Given the description of an element on the screen output the (x, y) to click on. 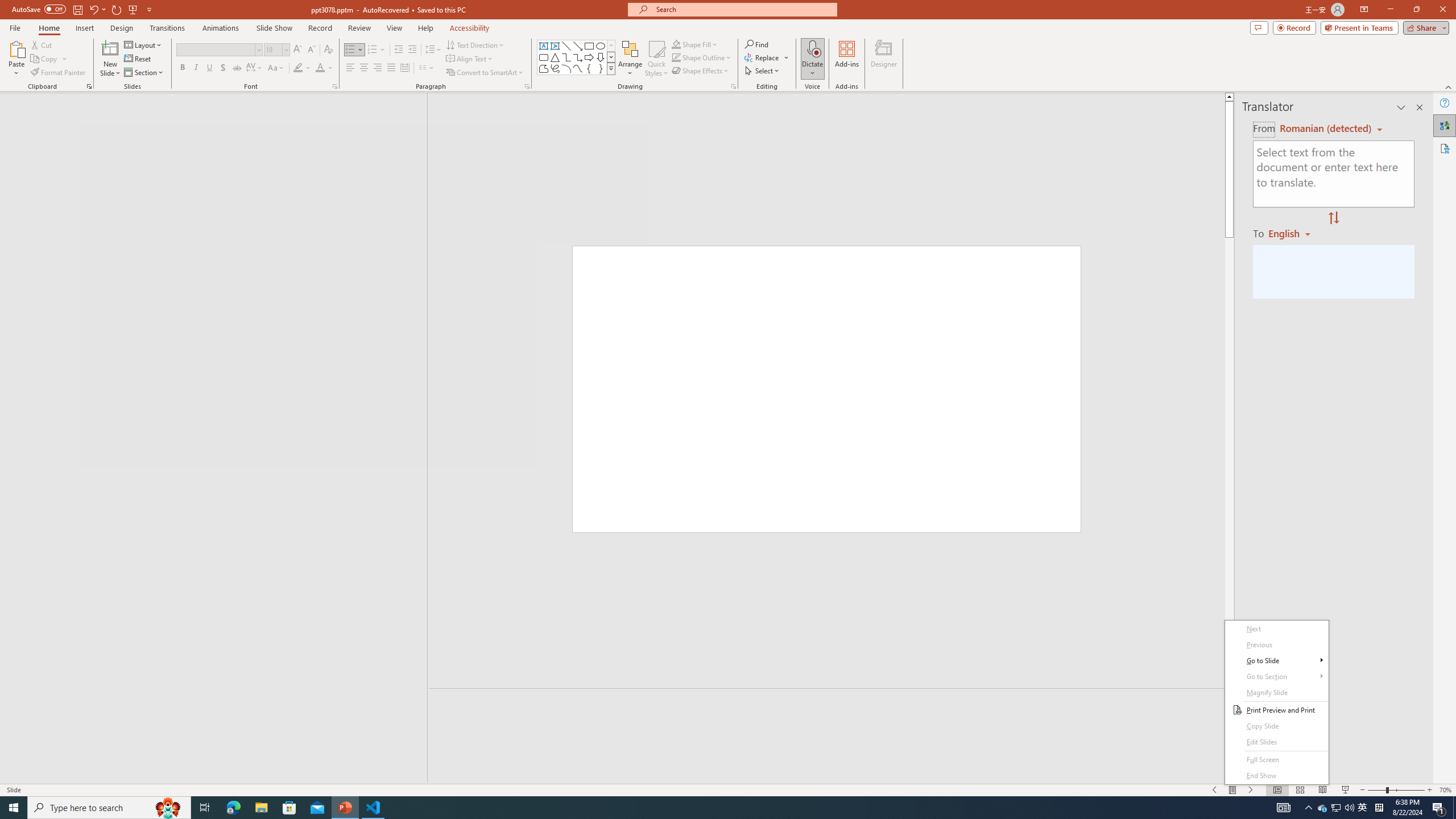
Previous (1276, 644)
Shape Outline (701, 56)
